Given the description of an element on the screen output the (x, y) to click on. 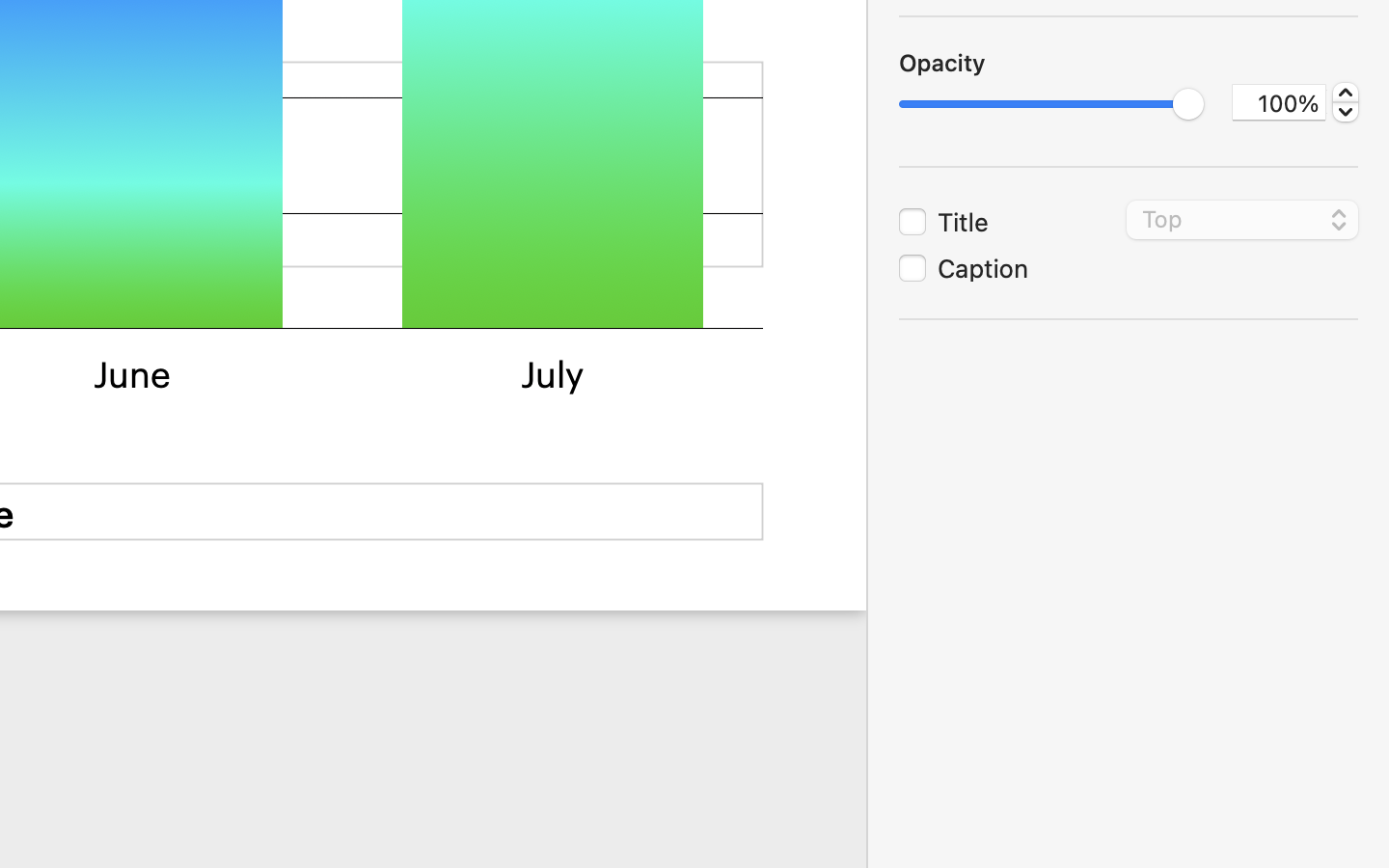
Top Element type: AXPopUpButton (1242, 222)
